Given the description of an element on the screen output the (x, y) to click on. 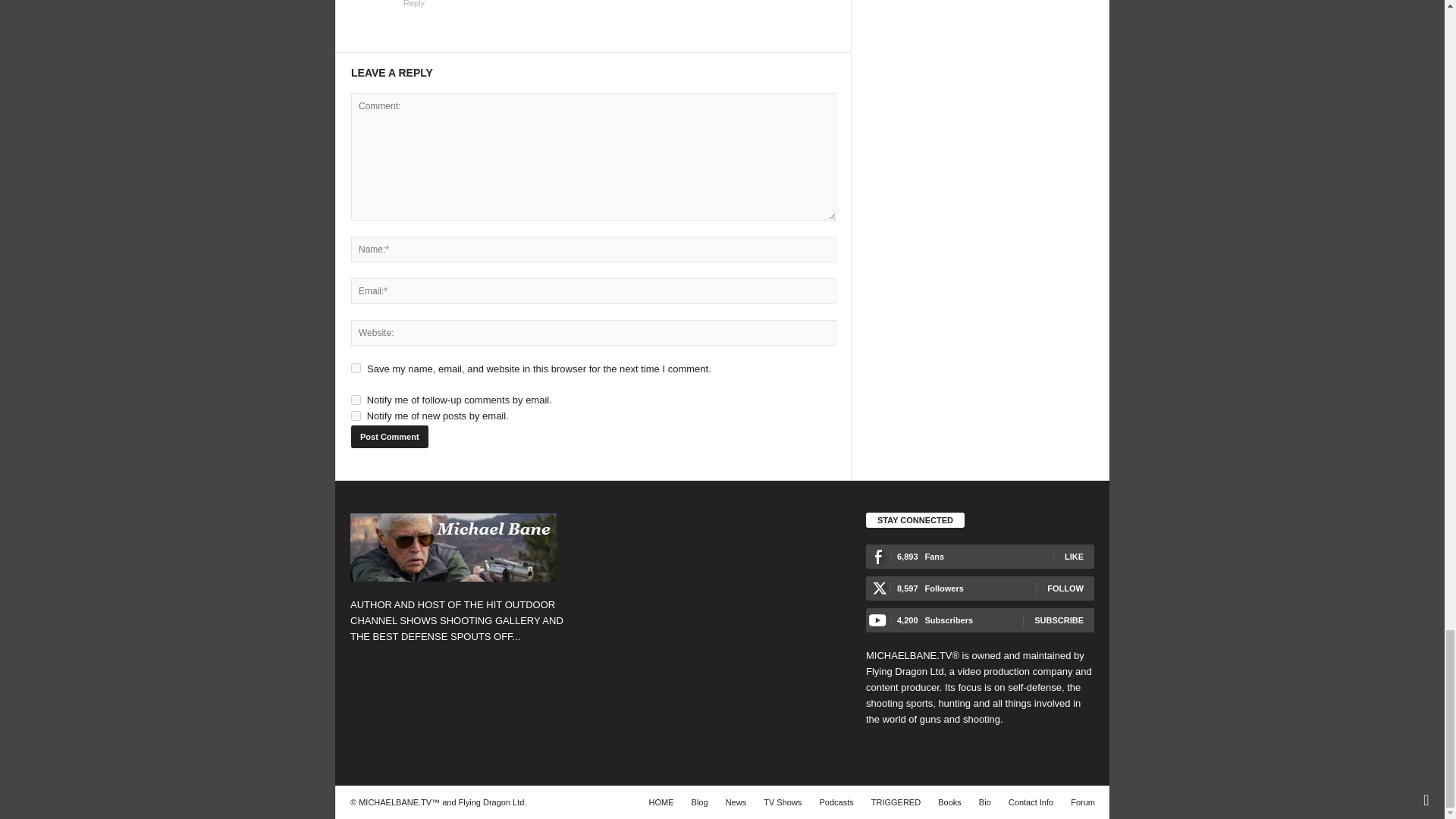
Post Comment (389, 436)
yes (355, 368)
subscribe (355, 415)
subscribe (355, 399)
